Given the description of an element on the screen output the (x, y) to click on. 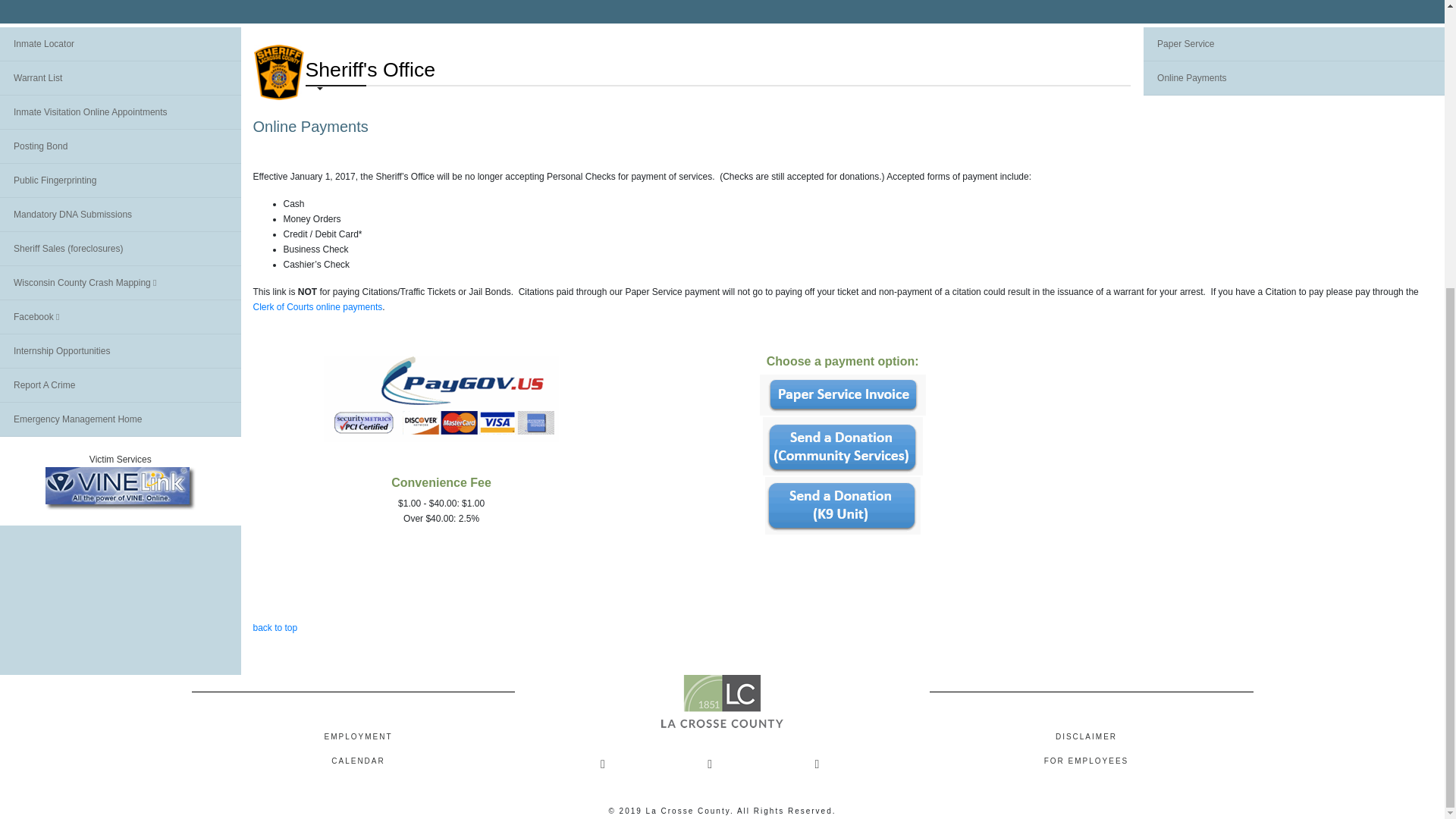
Sheriff's Office (277, 72)
pay-paperservice (843, 394)
vineLink  (120, 488)
paygov (441, 398)
pay-donationcs (842, 445)
pay-donationk9 (842, 505)
